Given the description of an element on the screen output the (x, y) to click on. 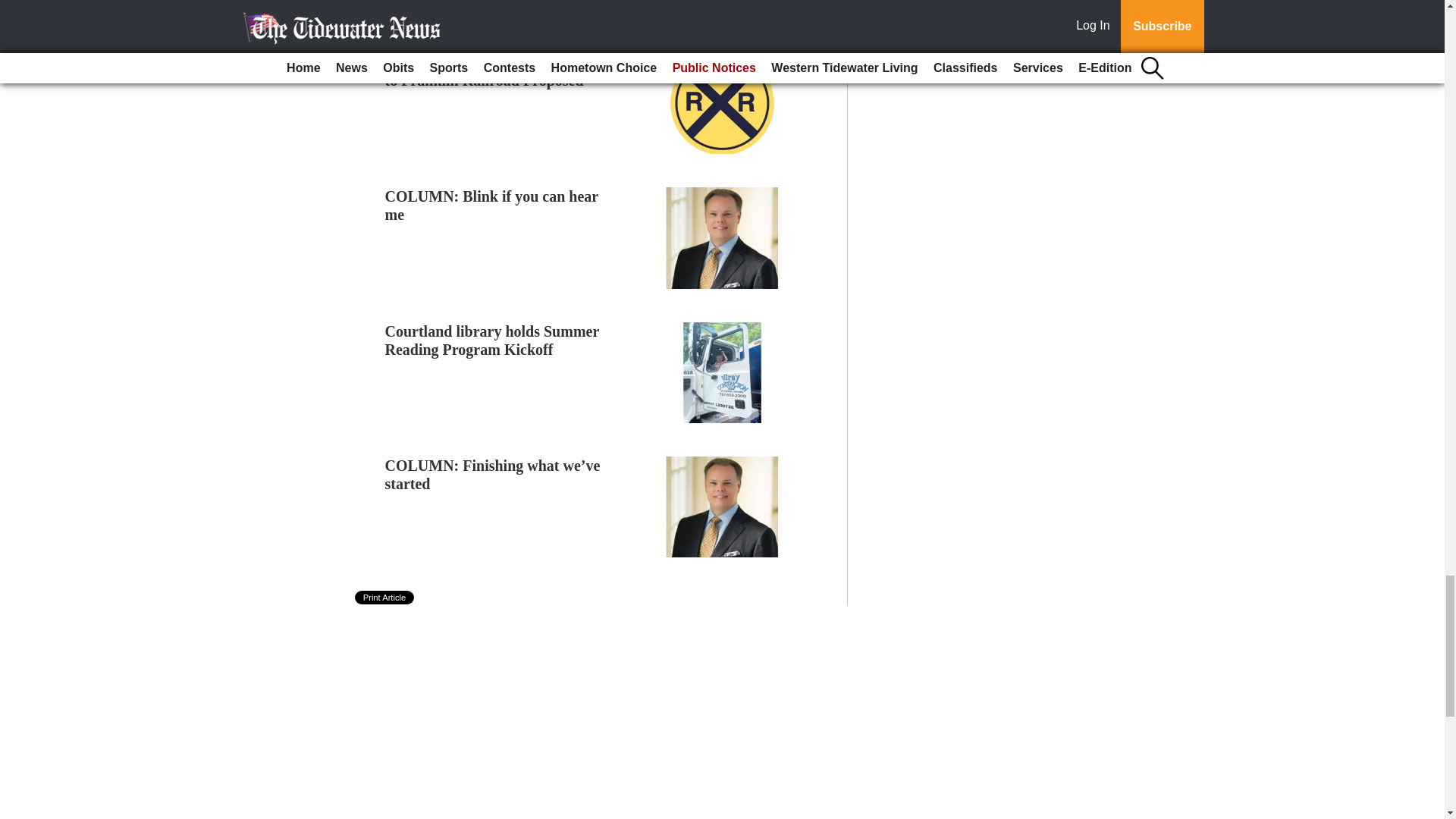
COLUMN: Blink if you can hear me (491, 205)
LOOKING BACK: Murfreesboro to Franklin Railroad Proposed (495, 71)
LOOKING BACK: Murfreesboro to Franklin Railroad Proposed (495, 71)
COLUMN: Blink if you can hear me (491, 205)
Courtland library holds Summer Reading Program Kickoff (491, 339)
